Given the description of an element on the screen output the (x, y) to click on. 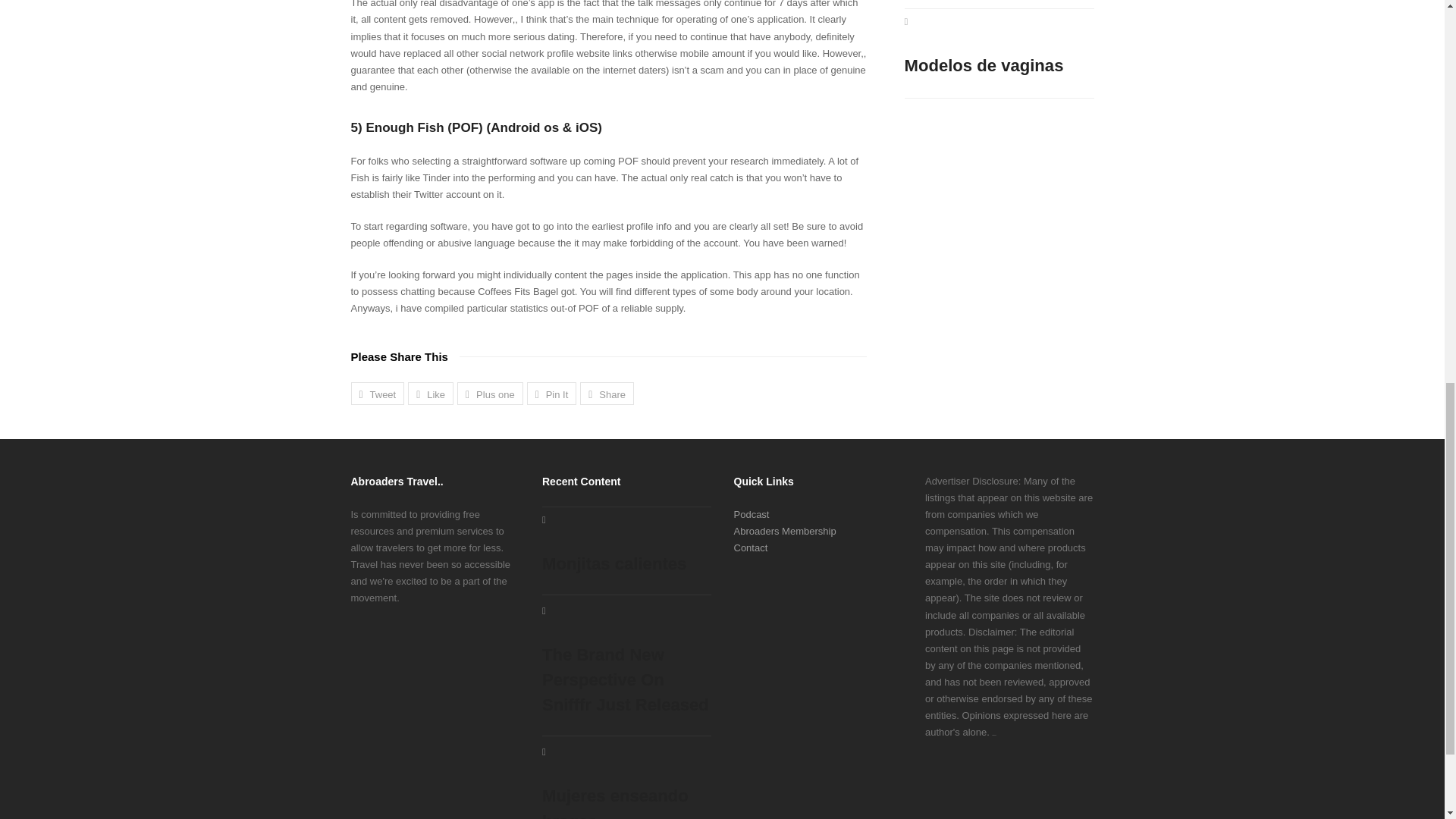
Like (429, 393)
Share on Pinterest (551, 393)
Share on LinkedIn (606, 393)
Monjitas calientes (626, 545)
Podcast (751, 514)
Mujeres enseando bragas (626, 782)
The Brand New Perspective On Snifffr Just Released (626, 661)
Share on Facebook (429, 393)
Contact (750, 547)
Share (606, 393)
